Given the description of an element on the screen output the (x, y) to click on. 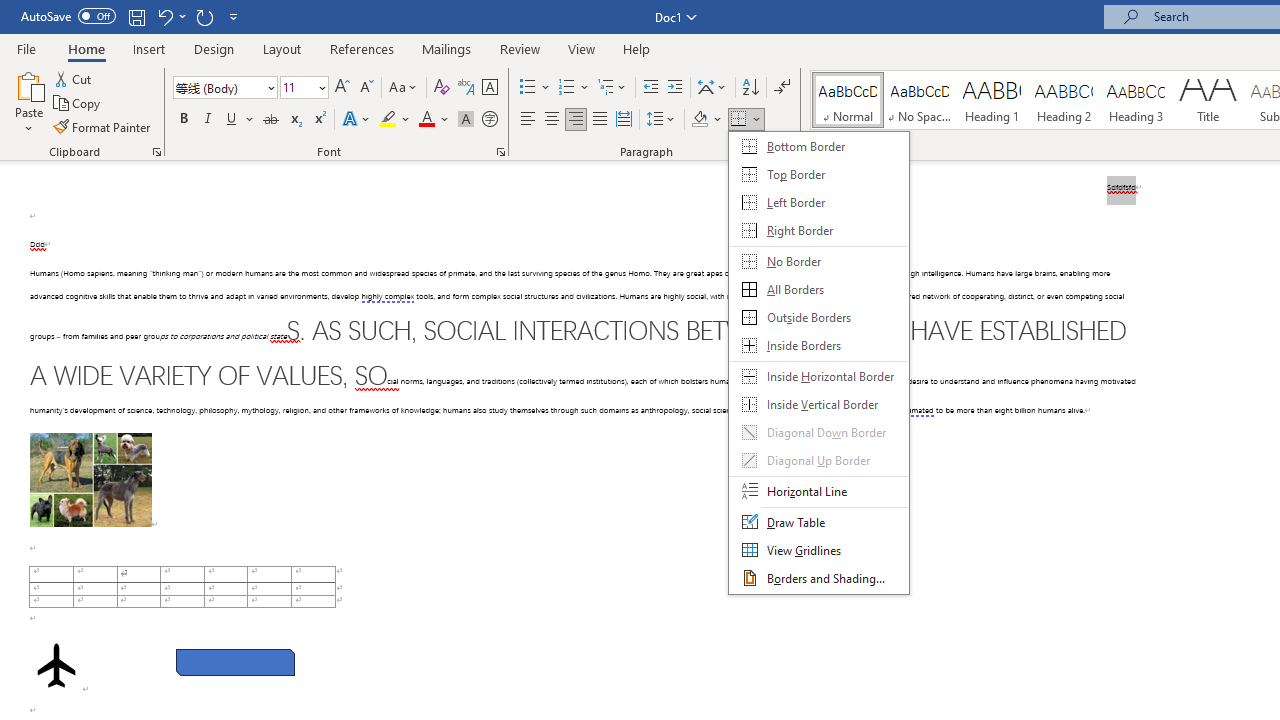
Open (320, 87)
Layout (282, 48)
Home (86, 48)
Quick Access Toolbar (131, 16)
Font (218, 87)
Align Right (575, 119)
Font (224, 87)
Paste (28, 84)
Increase Indent (675, 87)
Text Highlight Color Yellow (388, 119)
Strikethrough (270, 119)
More Options (757, 119)
Line and Paragraph Spacing (661, 119)
Font Size (297, 87)
File Tab (26, 48)
